Given the description of an element on the screen output the (x, y) to click on. 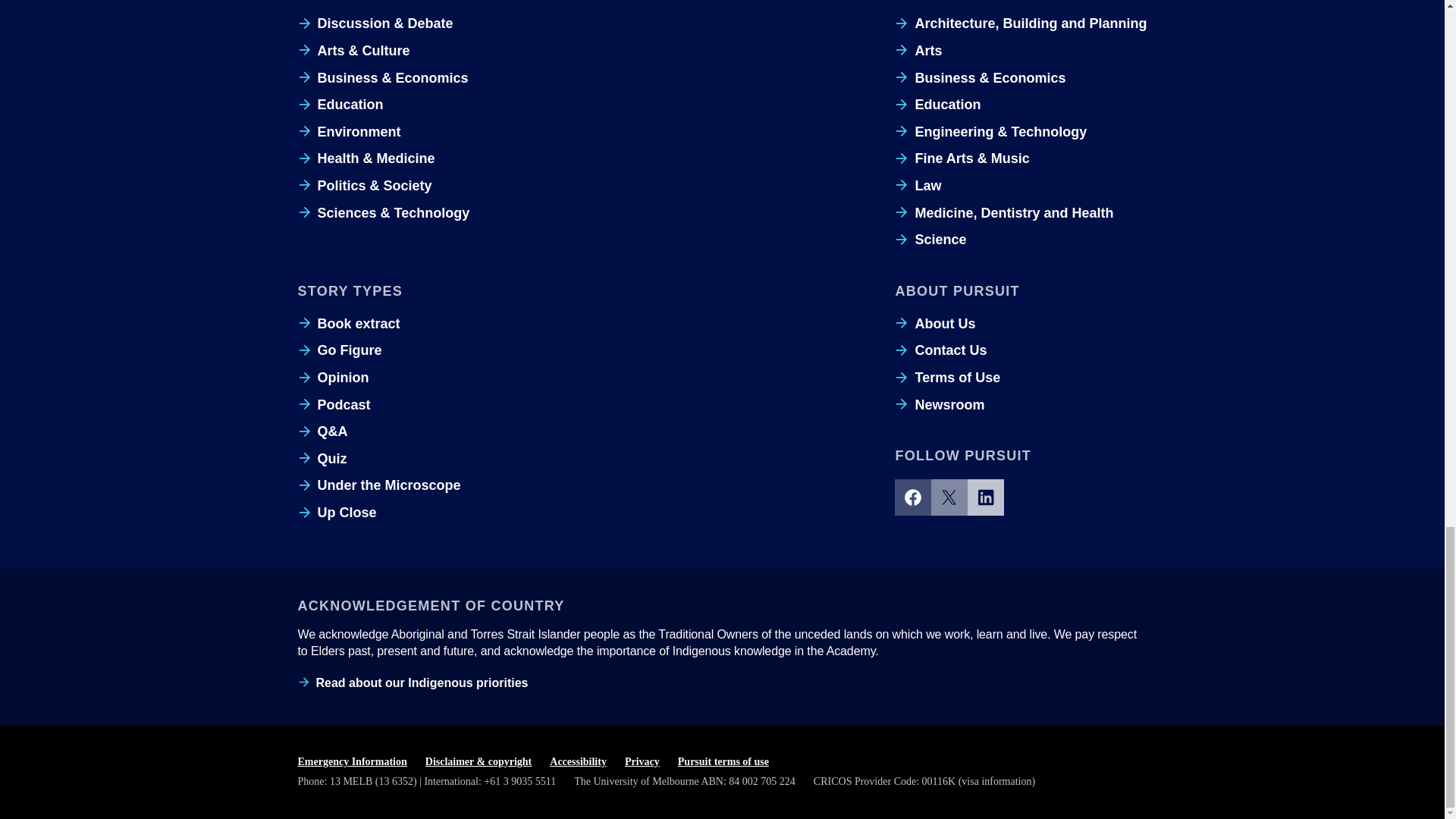
Education (339, 104)
Architecture, Building and Planning (1021, 23)
facebook (913, 497)
Pursuit terms of use (723, 762)
Emergency Information (351, 762)
Arts (918, 50)
Accessibility (578, 762)
linkedin (986, 497)
x (949, 497)
Environment (348, 131)
Privacy (641, 762)
